Given the description of an element on the screen output the (x, y) to click on. 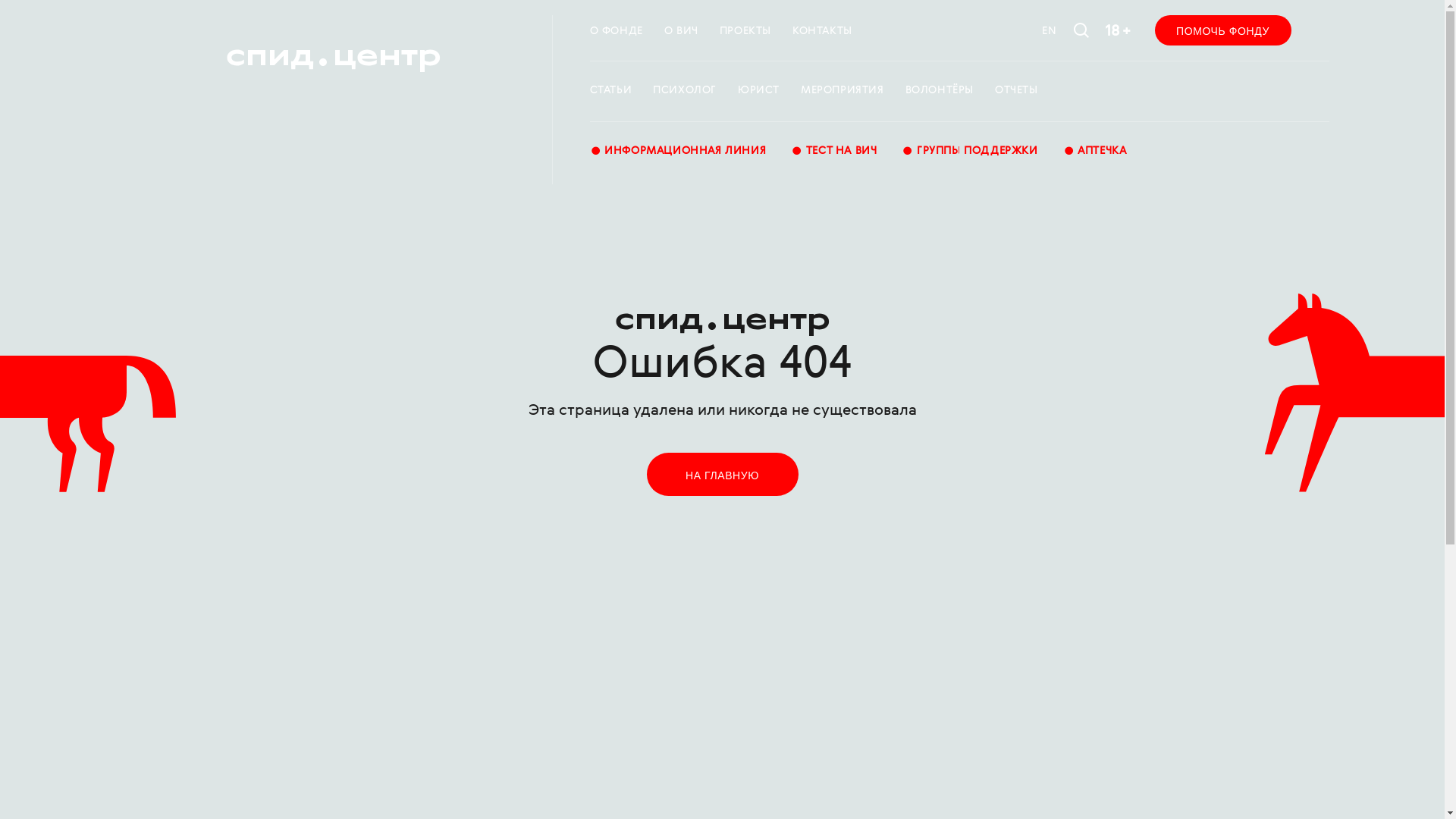
EN Element type: text (1048, 30)
